Given the description of an element on the screen output the (x, y) to click on. 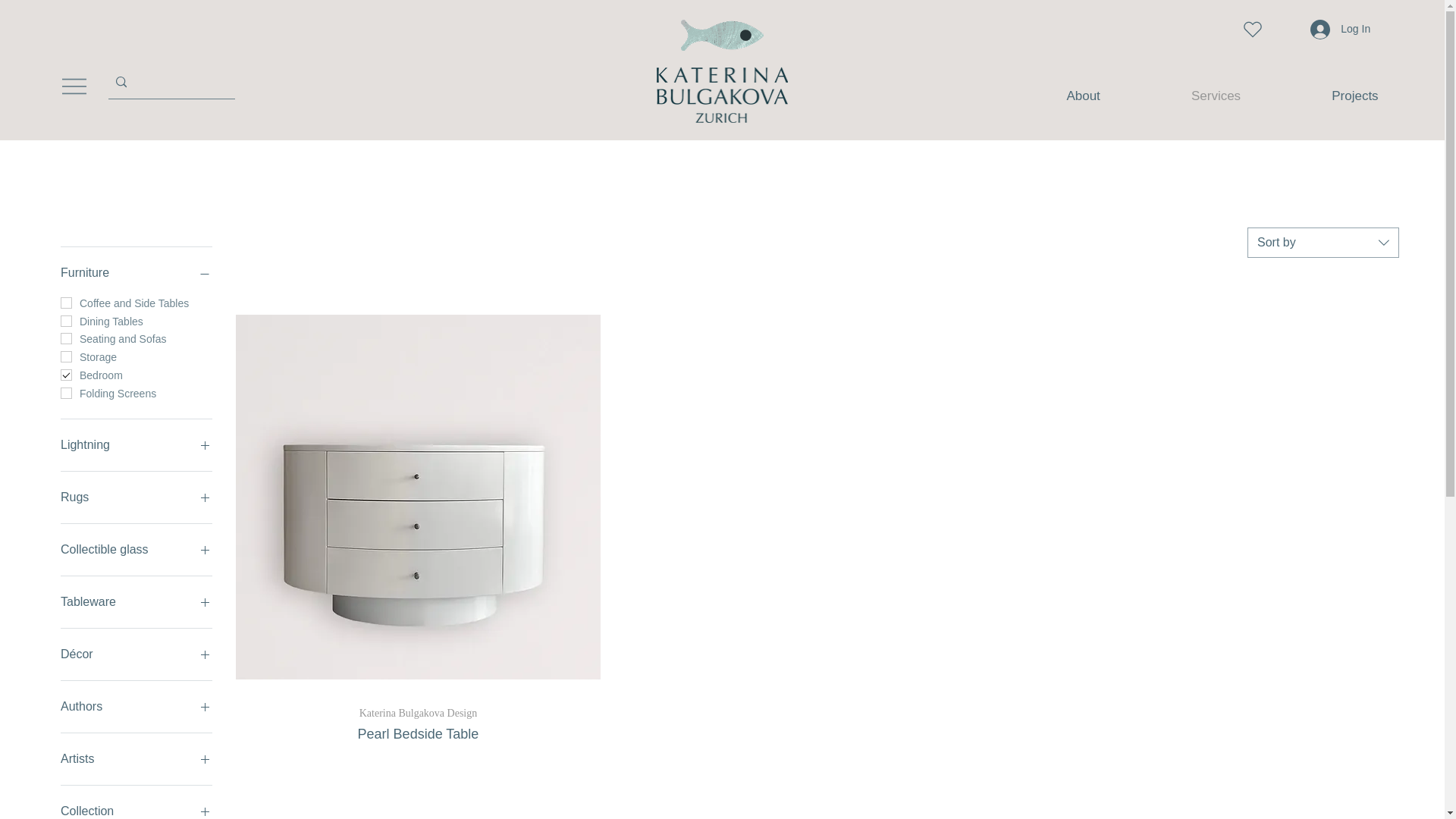
Collectible glass (136, 549)
Artists (1193, 96)
Lightning (136, 758)
Sort by (136, 444)
Projects (1323, 242)
Collection (1326, 96)
Rugs (136, 809)
Services (136, 496)
